Given the description of an element on the screen output the (x, y) to click on. 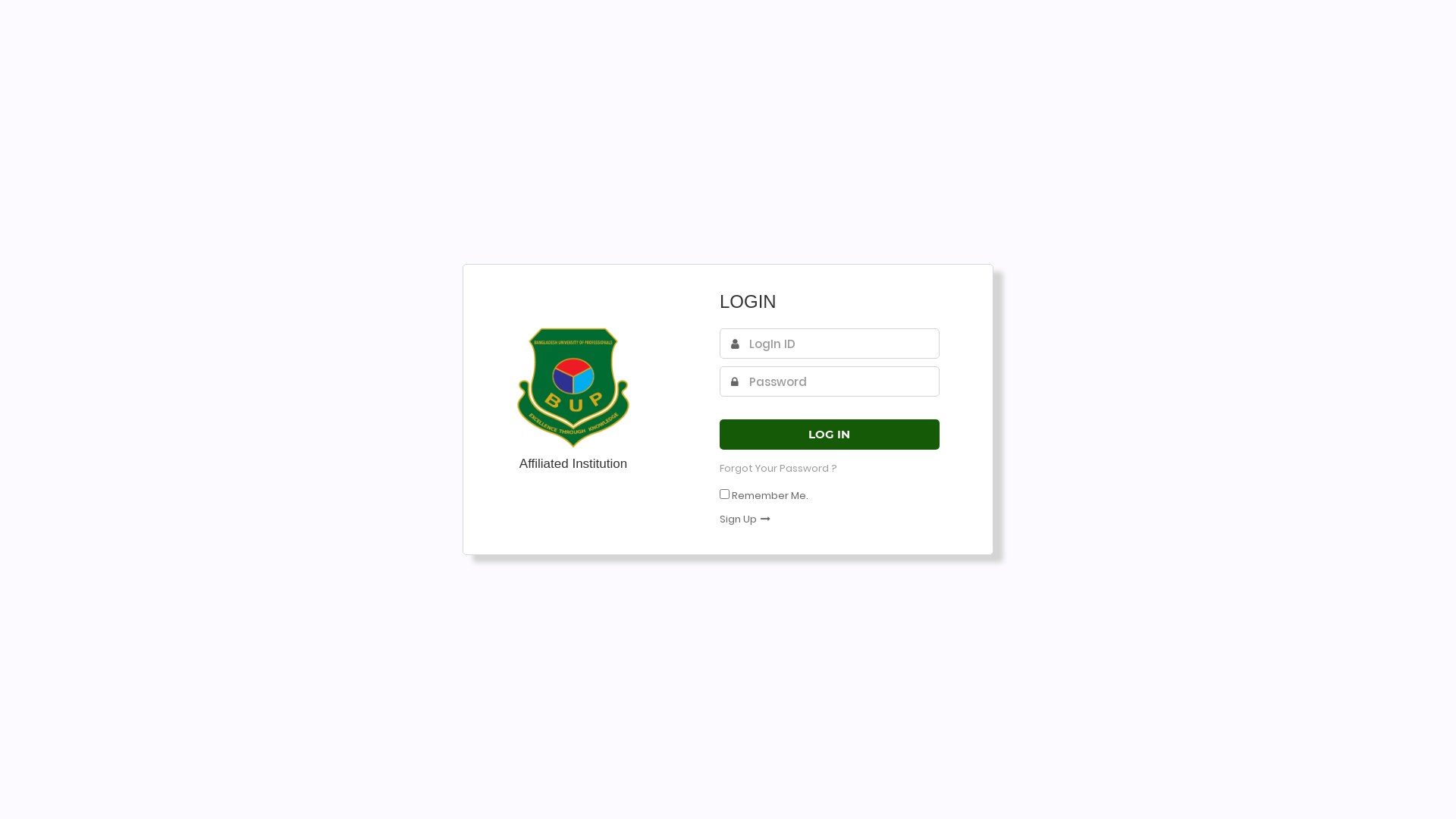
Forgot Your Password ? Element type: text (778, 468)
Log In Element type: text (829, 434)
Sign Up Element type: text (744, 518)
Remember Me. Element type: text (769, 495)
